Given the description of an element on the screen output the (x, y) to click on. 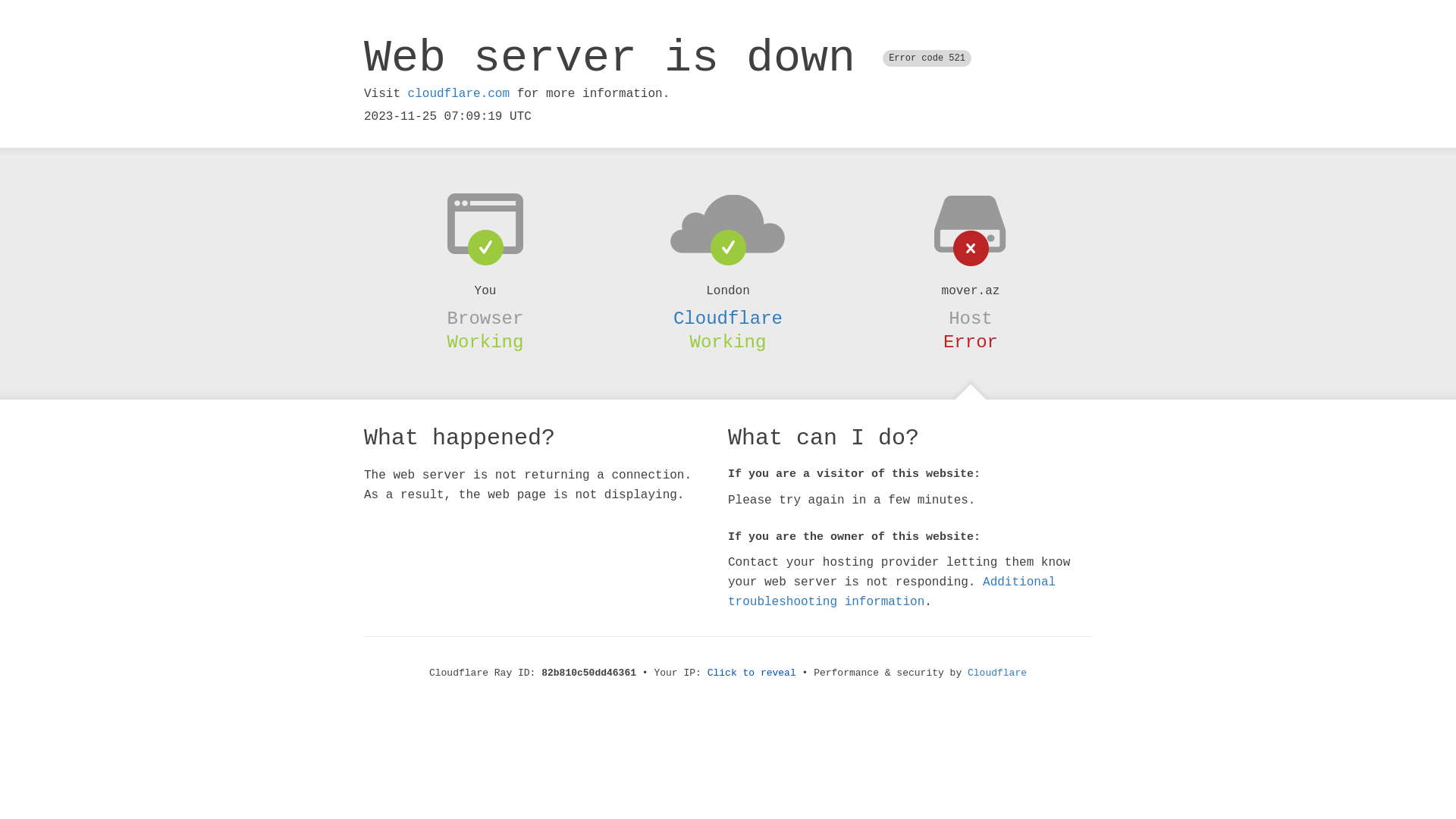
cloudflare.com Element type: text (458, 93)
Click to reveal Element type: text (751, 672)
Additional troubleshooting information Element type: text (891, 591)
Cloudflare Element type: text (727, 318)
Cloudflare Element type: text (996, 672)
